Given the description of an element on the screen output the (x, y) to click on. 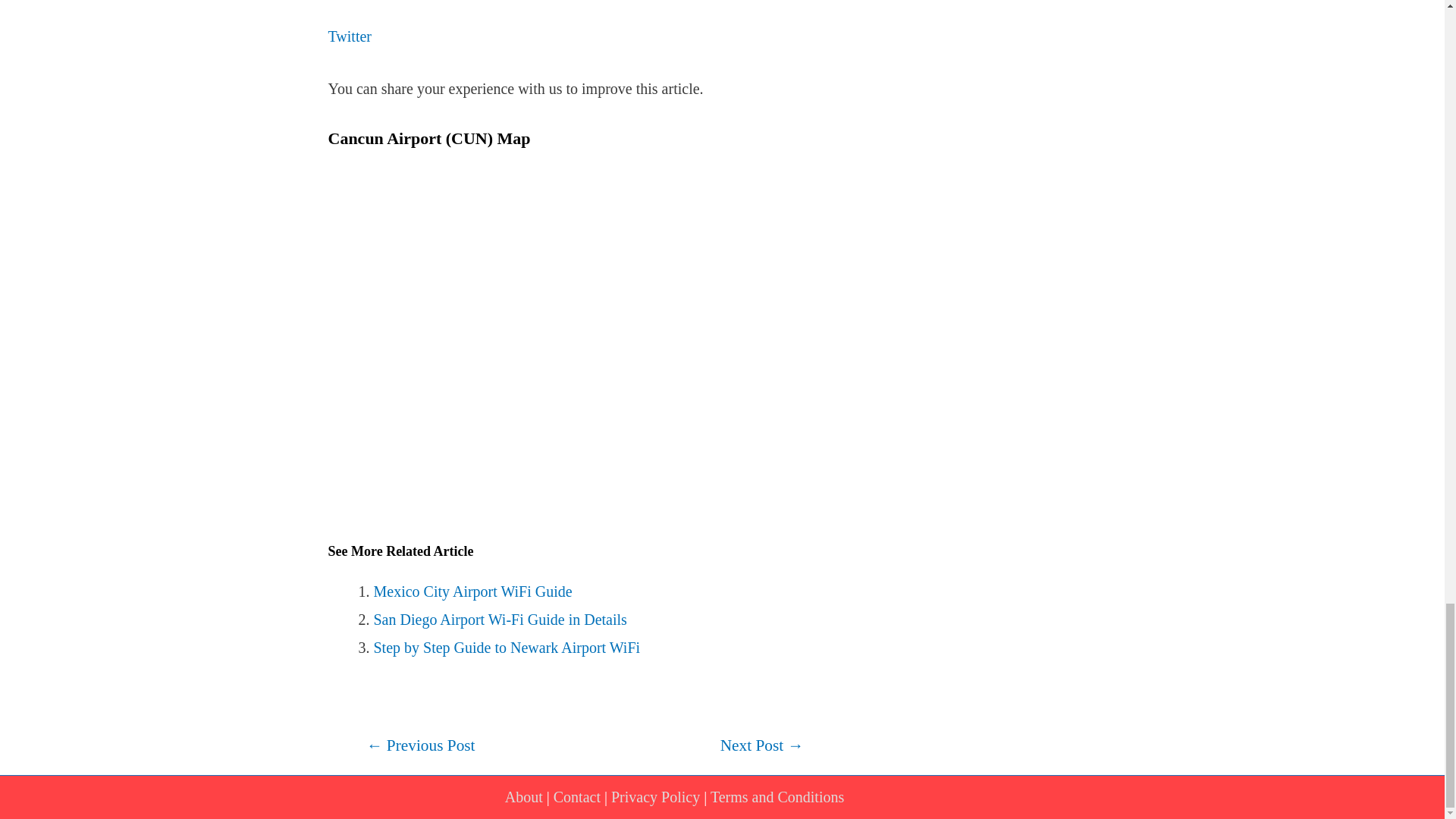
Mexico City Airport WiFi Guide (472, 591)
DMCA.com Protection Status (893, 796)
Contact (576, 796)
San Diego Airport Wi-Fi Guide in Details (499, 619)
Privacy Policy (655, 796)
Twitter  (350, 36)
Terms and Conditions (777, 796)
About (524, 796)
Step by Step Guide to Newark Airport WiFi (506, 647)
